Given the description of an element on the screen output the (x, y) to click on. 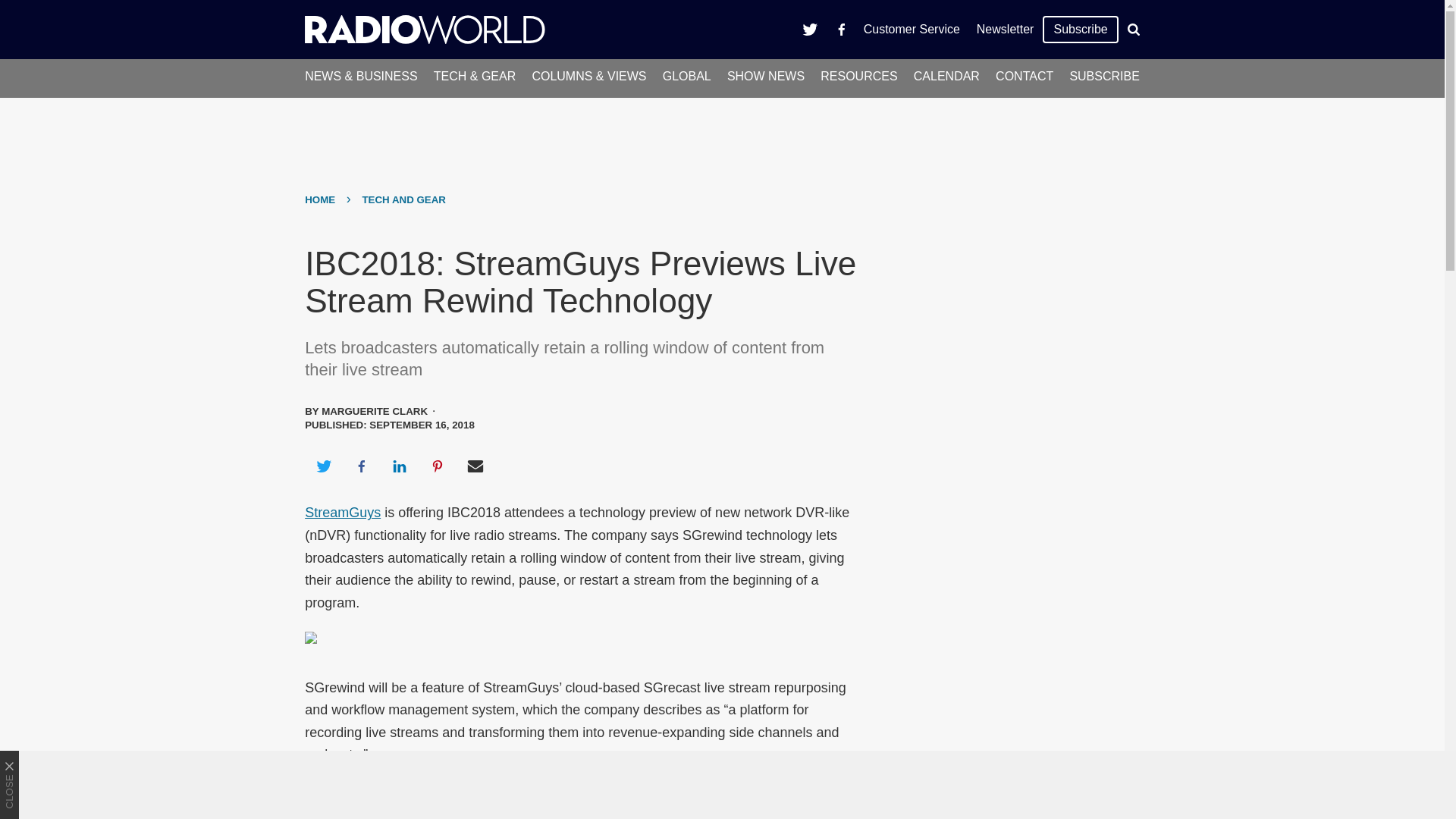
Share on Pinterest (438, 466)
Share on Twitter (323, 466)
Share on LinkedIn (399, 466)
Share on Facebook (361, 466)
Customer Service (912, 29)
Share via Email (476, 466)
